Given the description of an element on the screen output the (x, y) to click on. 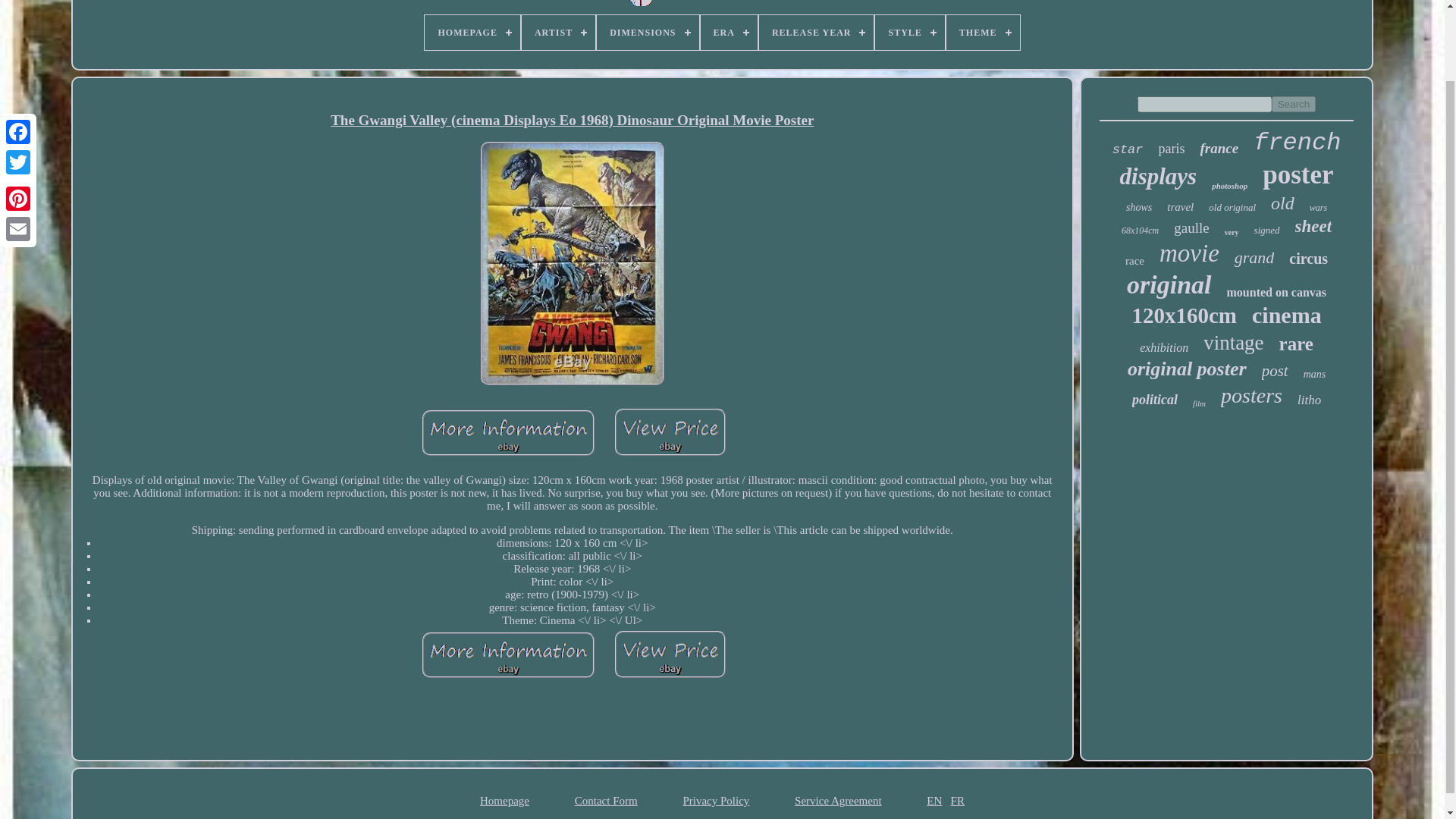
ERA (728, 32)
HOMEPAGE (472, 32)
DIMENSIONS (647, 32)
Search (1293, 104)
ARTIST (558, 32)
